Given the description of an element on the screen output the (x, y) to click on. 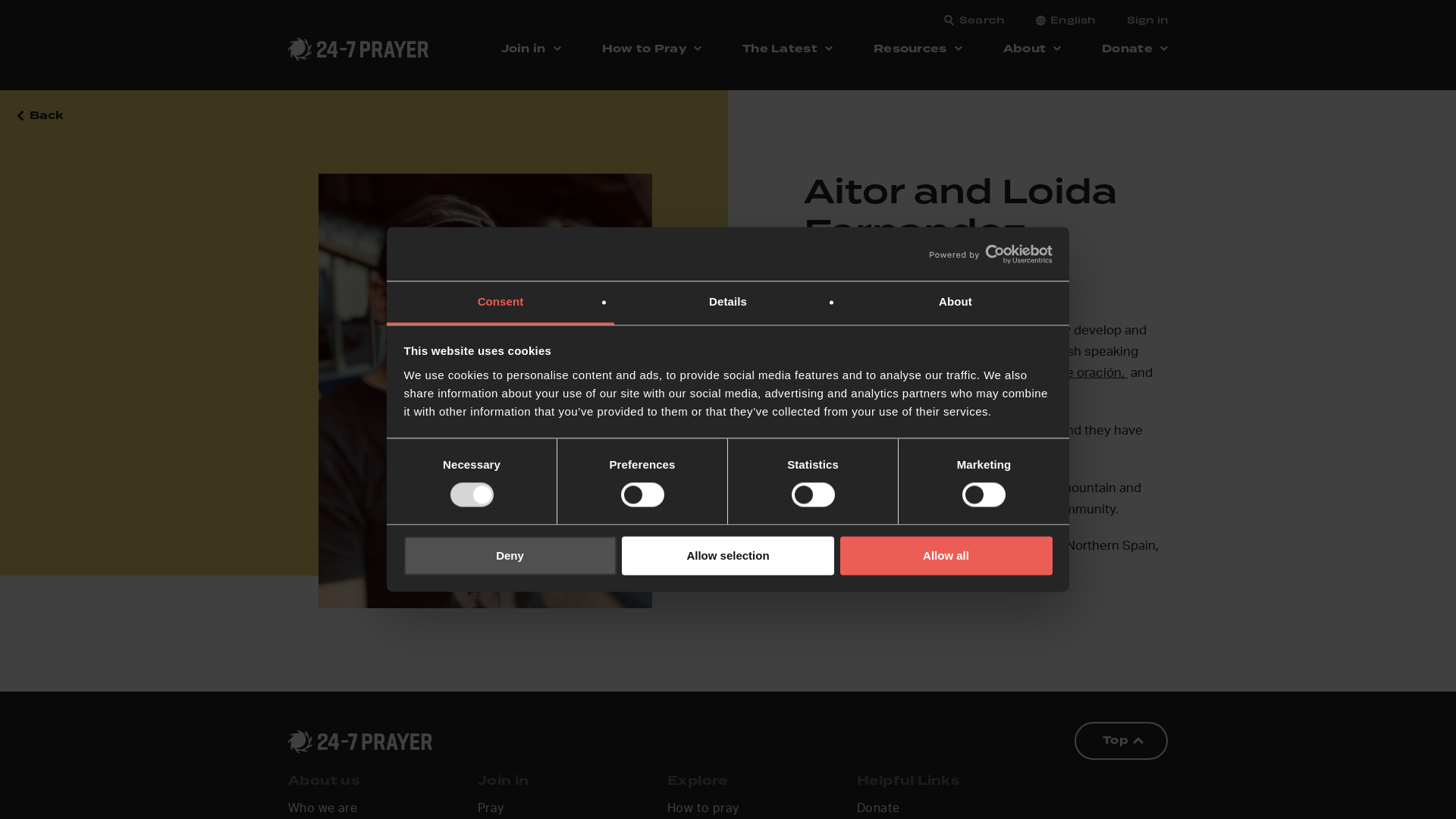
Allow selection Element type: text (727, 555)
English Element type: text (1072, 20)
Search Element type: text (981, 19)
How to pray Element type: text (702, 809)
Who we are Element type: text (322, 809)
About us Element type: text (324, 781)
Deny Element type: text (509, 555)
Pray Element type: text (490, 809)
About Element type: text (955, 302)
Consent Element type: text (500, 302)
Lectio 365.  Element type: text (974, 393)
Allow all Element type: text (946, 555)
Sign in Element type: text (1146, 19)
Explore Element type: text (697, 781)
Join in Element type: text (503, 781)
Donate Element type: text (877, 809)
Details Element type: text (727, 302)
Helpful Links Element type: text (908, 781)
